Given the description of an element on the screen output the (x, y) to click on. 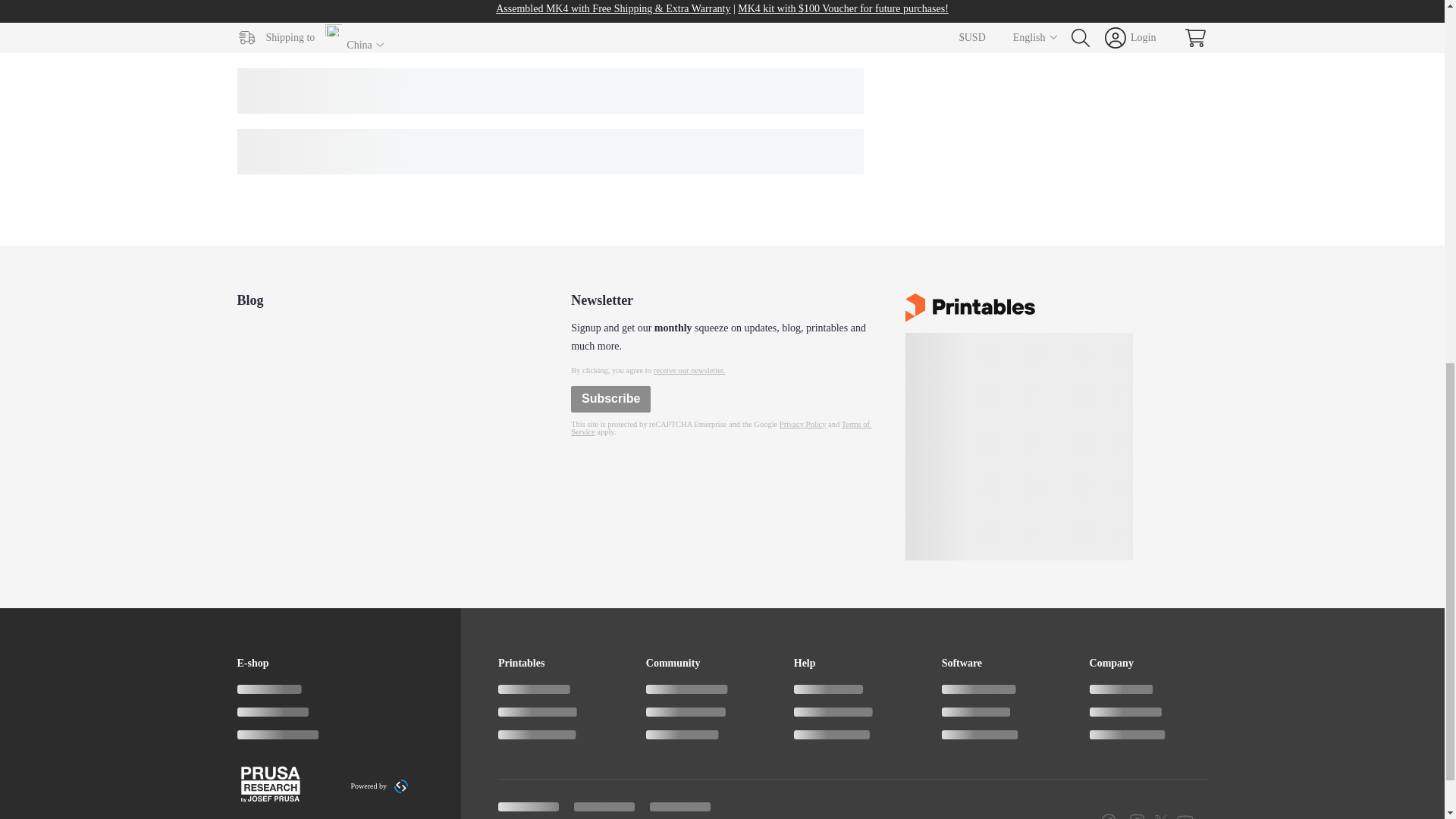
Privacy Policy (802, 424)
Terms of Service (721, 428)
Subscribe (610, 398)
receive our newsletter. (689, 370)
